Given the description of an element on the screen output the (x, y) to click on. 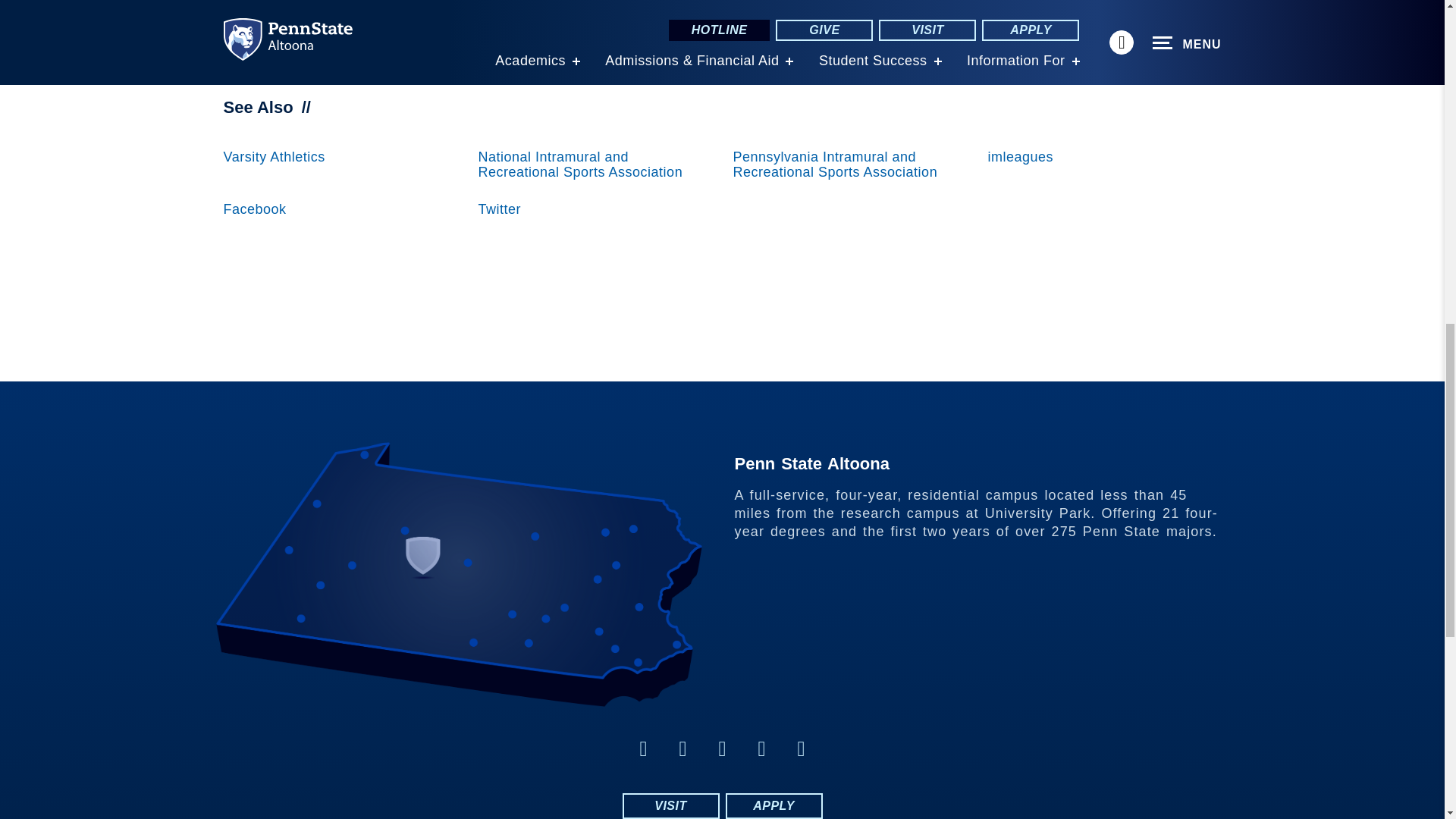
instagram (721, 748)
youtube (761, 748)
facebook (642, 748)
linkedin (800, 748)
twitter (682, 748)
